Given the description of an element on the screen output the (x, y) to click on. 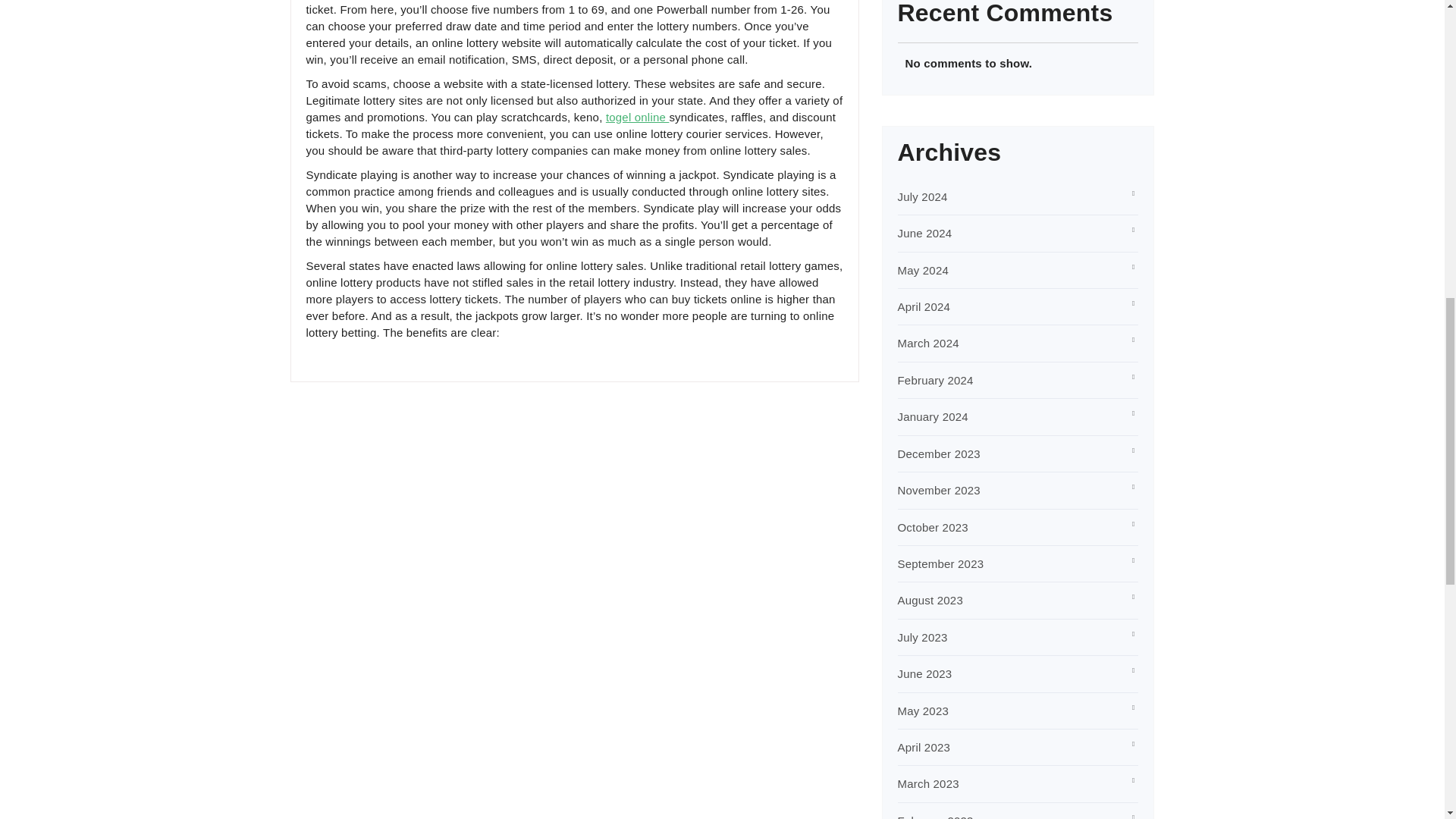
togel online (637, 116)
April 2024 (924, 306)
May 2024 (923, 269)
July 2024 (922, 196)
June 2024 (925, 232)
